Given the description of an element on the screen output the (x, y) to click on. 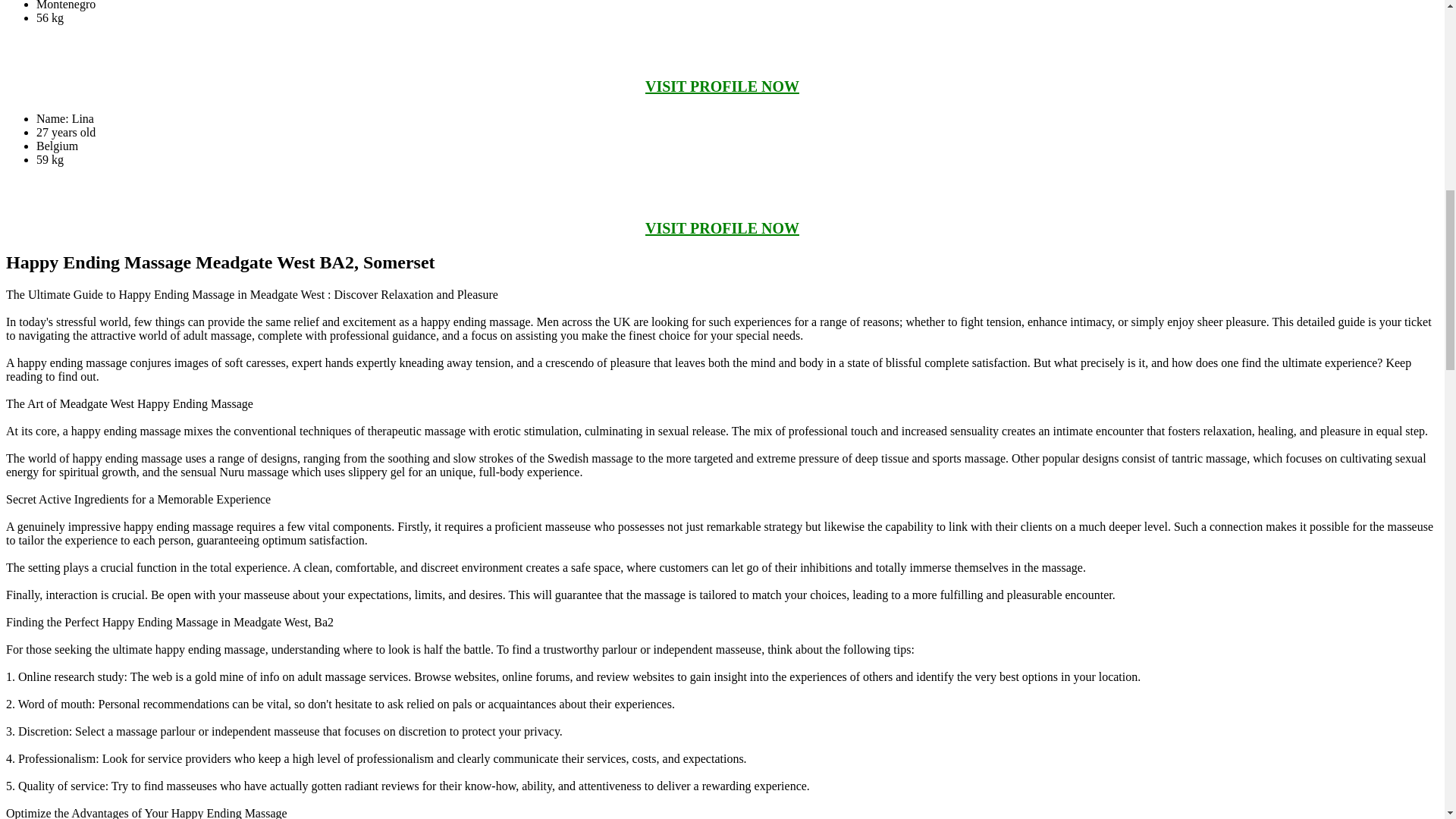
VISIT PROFILE NOW (722, 86)
VISIT PROFILE NOW (722, 228)
